Given the description of an element on the screen output the (x, y) to click on. 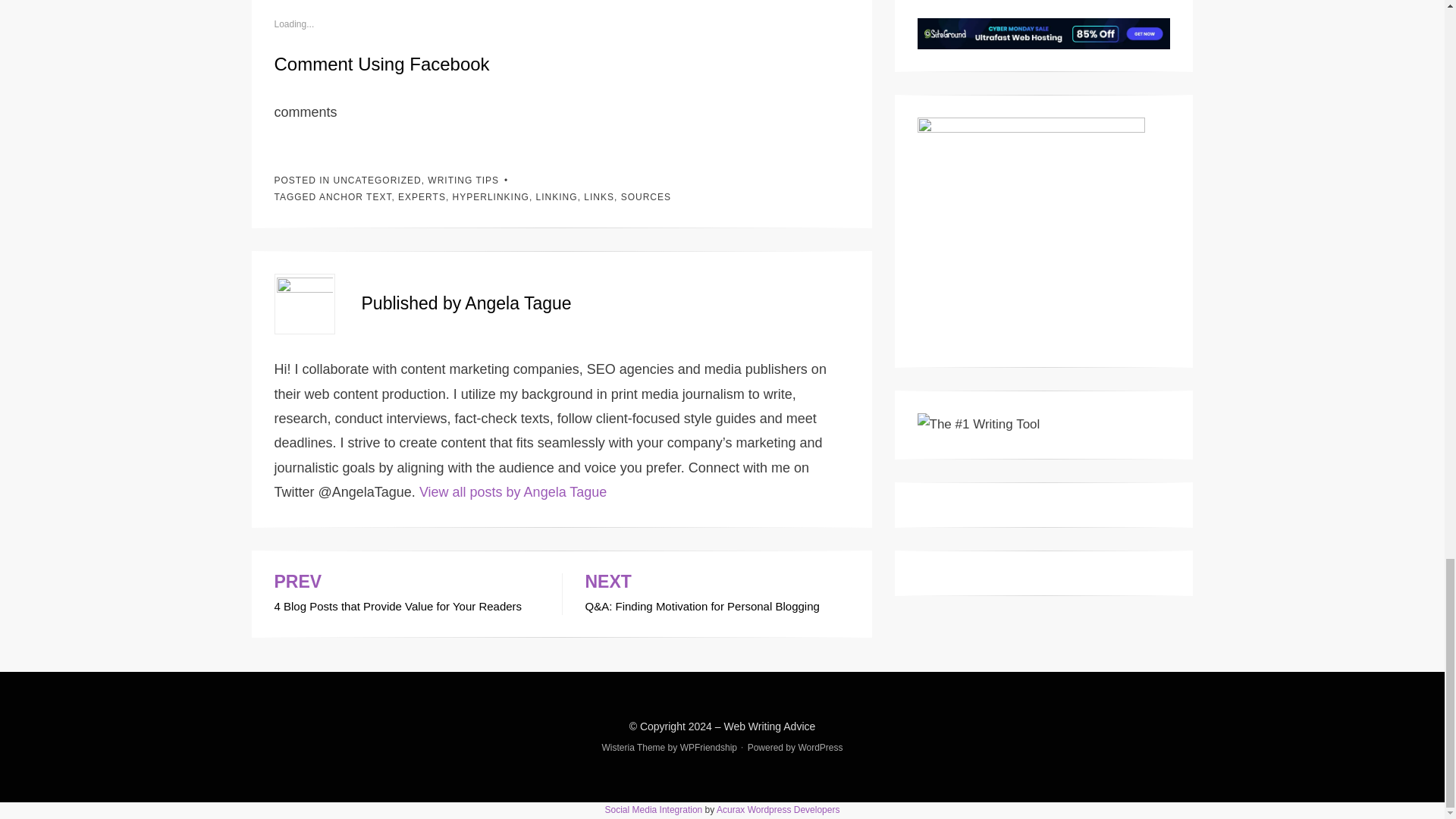
ANCHOR TEXT (354, 196)
WRITING TIPS (463, 180)
UNCATEGORIZED (377, 180)
EXPERTS (421, 196)
